Given the description of an element on the screen output the (x, y) to click on. 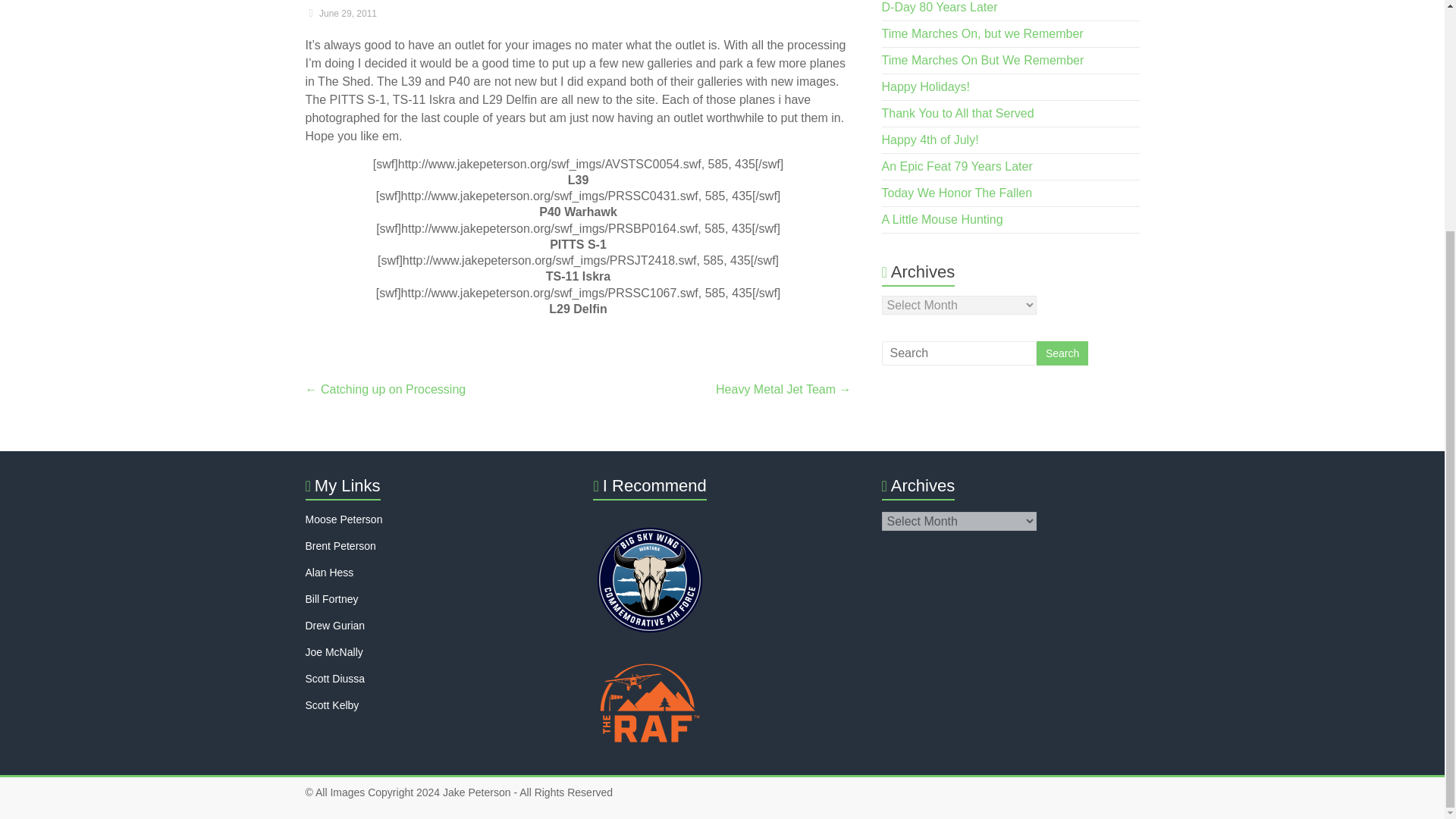
June 29, 2011 (340, 13)
Time Marches On But We Remember (983, 60)
Thank You to All that Served (957, 113)
10:29 am (340, 13)
Today We Honor The Fallen (957, 192)
Happy 4th of July! (930, 139)
D-Day 80 Years Later (939, 6)
Time Marches On, but we Remember (982, 33)
An Epic Feat 79 Years Later (957, 165)
Search (1061, 353)
